Given the description of an element on the screen output the (x, y) to click on. 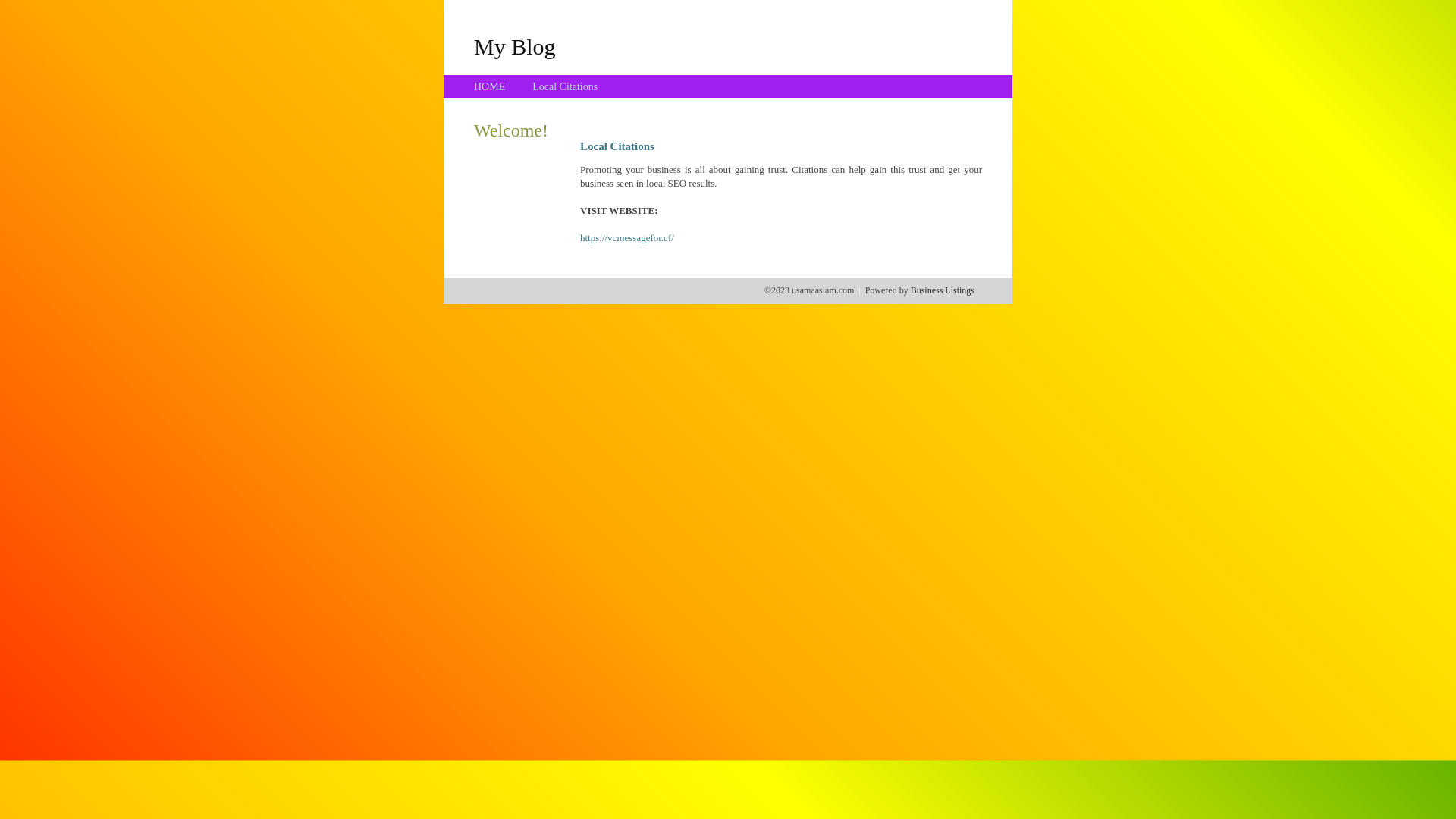
Local Citations Element type: text (564, 86)
https://vcmessagefor.cf/ Element type: text (627, 237)
My Blog Element type: text (514, 46)
Business Listings Element type: text (942, 290)
HOME Element type: text (489, 86)
